Given the description of an element on the screen output the (x, y) to click on. 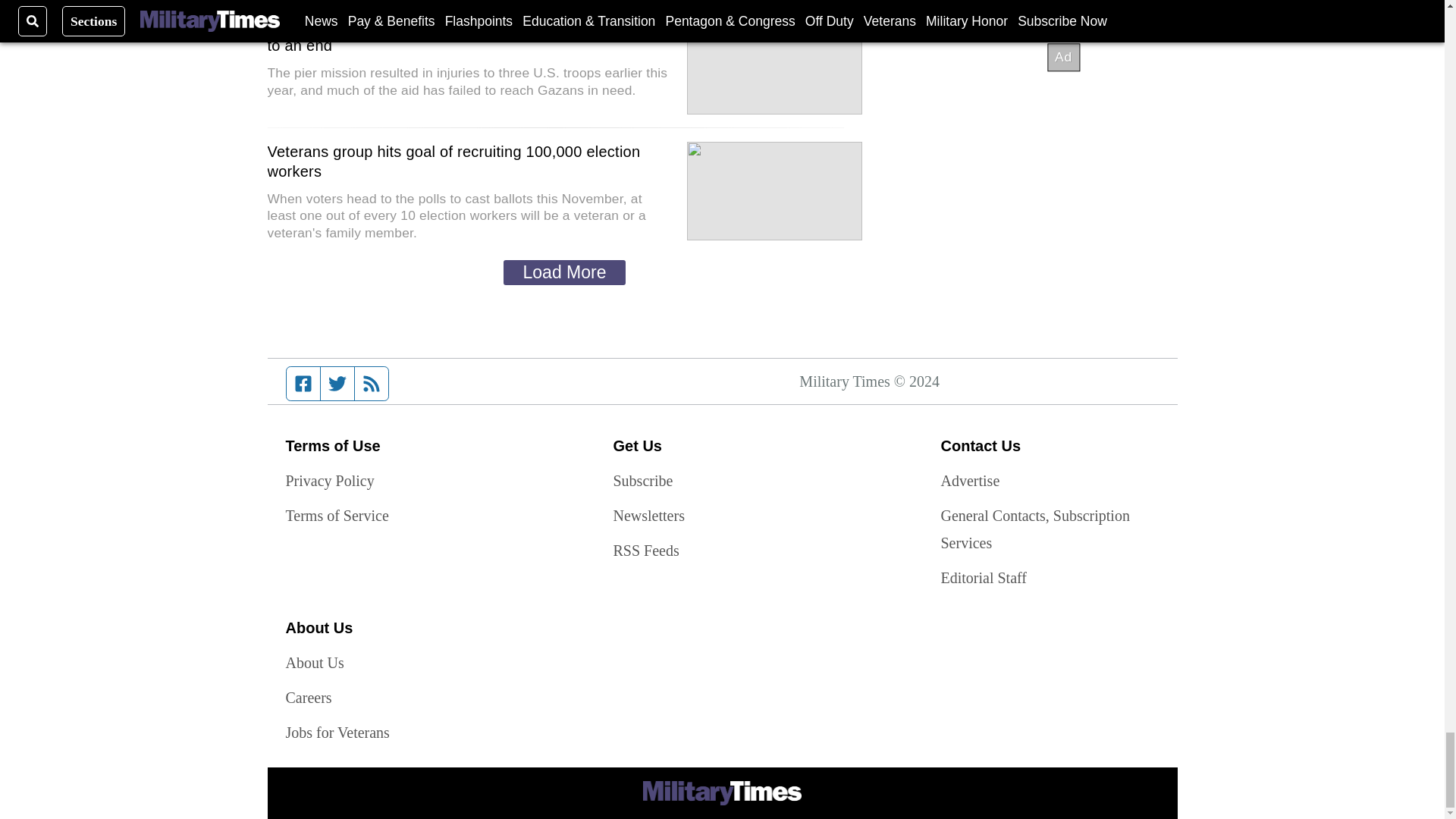
RSS feed (371, 383)
Facebook page (303, 383)
Twitter feed (336, 383)
